Given the description of an element on the screen output the (x, y) to click on. 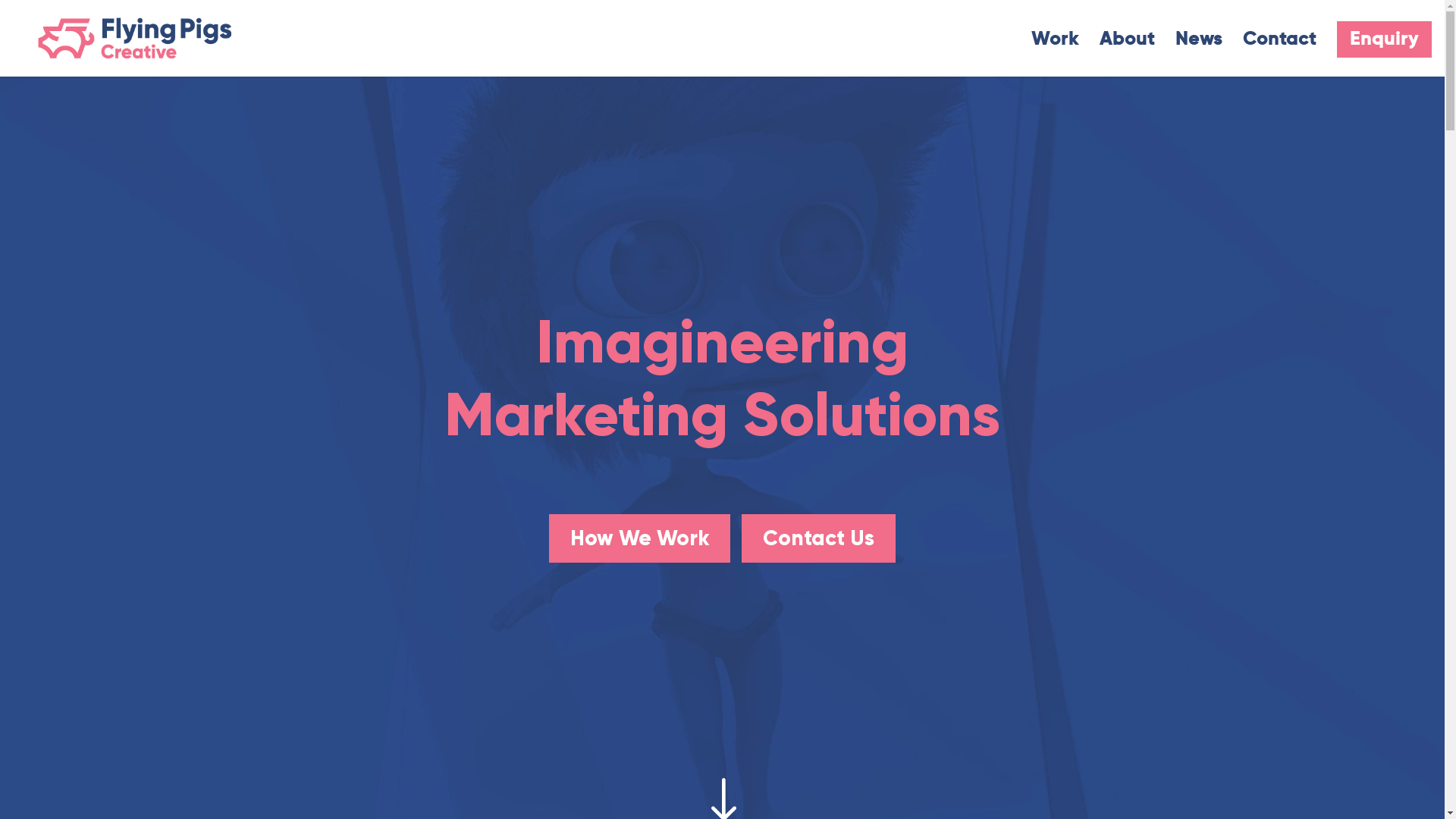
Contact Element type: text (1279, 55)
About Element type: text (1126, 55)
Work Element type: text (1055, 55)
Contact Us Element type: text (818, 538)
Enquiry Element type: text (1383, 39)
News Element type: text (1198, 55)
How We Work Element type: text (639, 538)
